Given the description of an element on the screen output the (x, y) to click on. 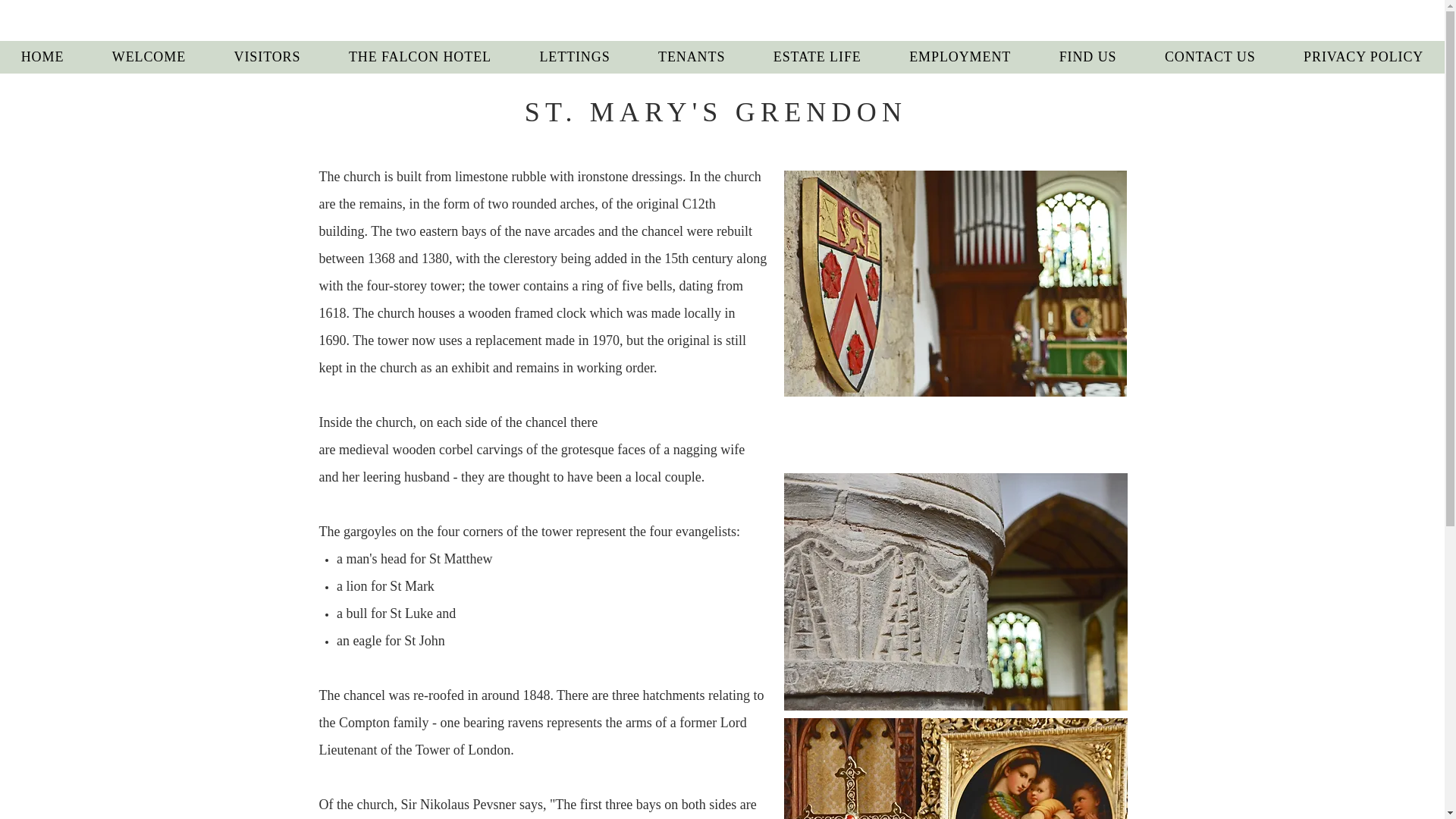
CONTACT US (1209, 56)
HOME (42, 56)
THE FALCON HOTEL (419, 56)
FIND US (1087, 56)
EMPLOYMENT (959, 56)
VISITORS (266, 56)
LETTINGS (574, 56)
TENANTS (691, 56)
WELCOME (148, 56)
ESTATE LIFE (817, 56)
